Given the description of an element on the screen output the (x, y) to click on. 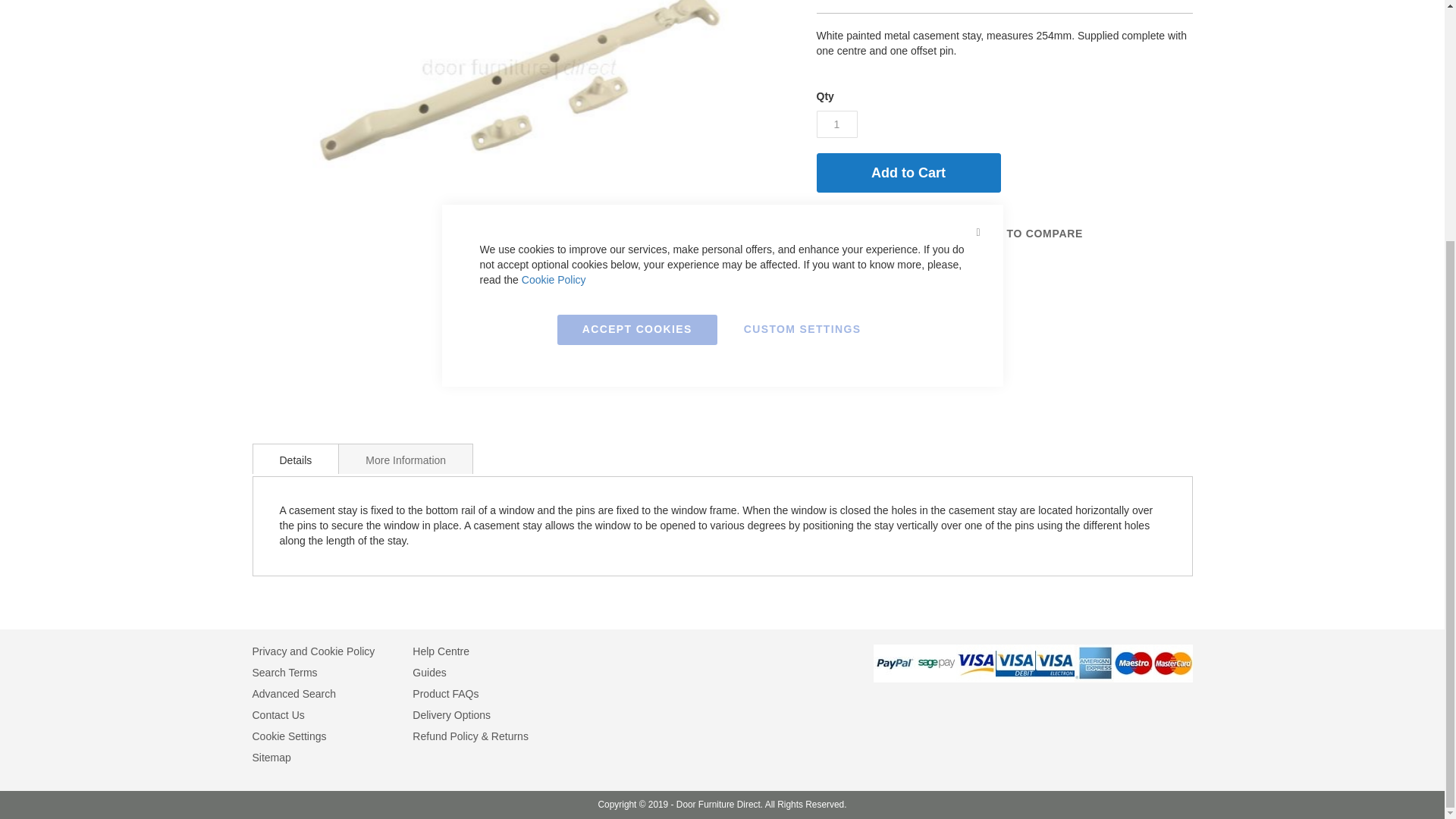
CUSTOM SETTINGS (801, 6)
ACCEPT COOKIES (637, 6)
Add to Cart (907, 172)
1 (836, 124)
Qty (836, 124)
